Given the description of an element on the screen output the (x, y) to click on. 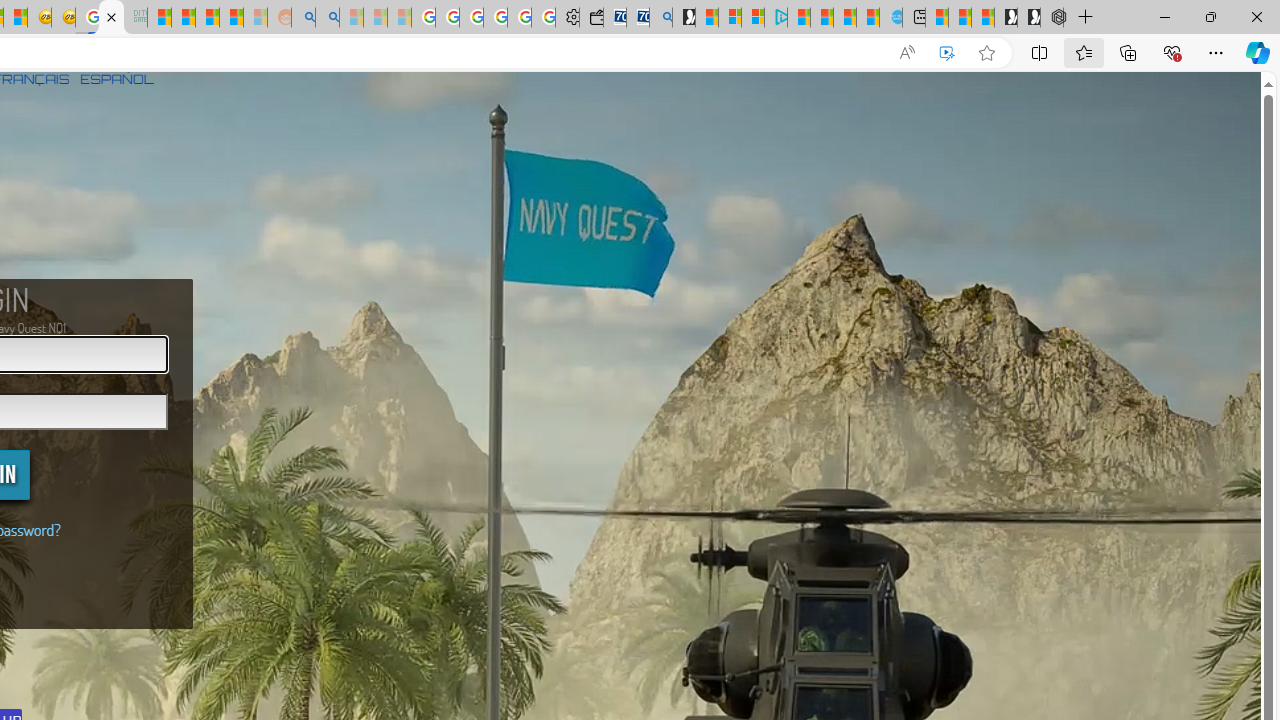
Bing Real Estate - Home sales and rental listings (660, 17)
Utah sues federal government - Search (327, 17)
